Given the description of an element on the screen output the (x, y) to click on. 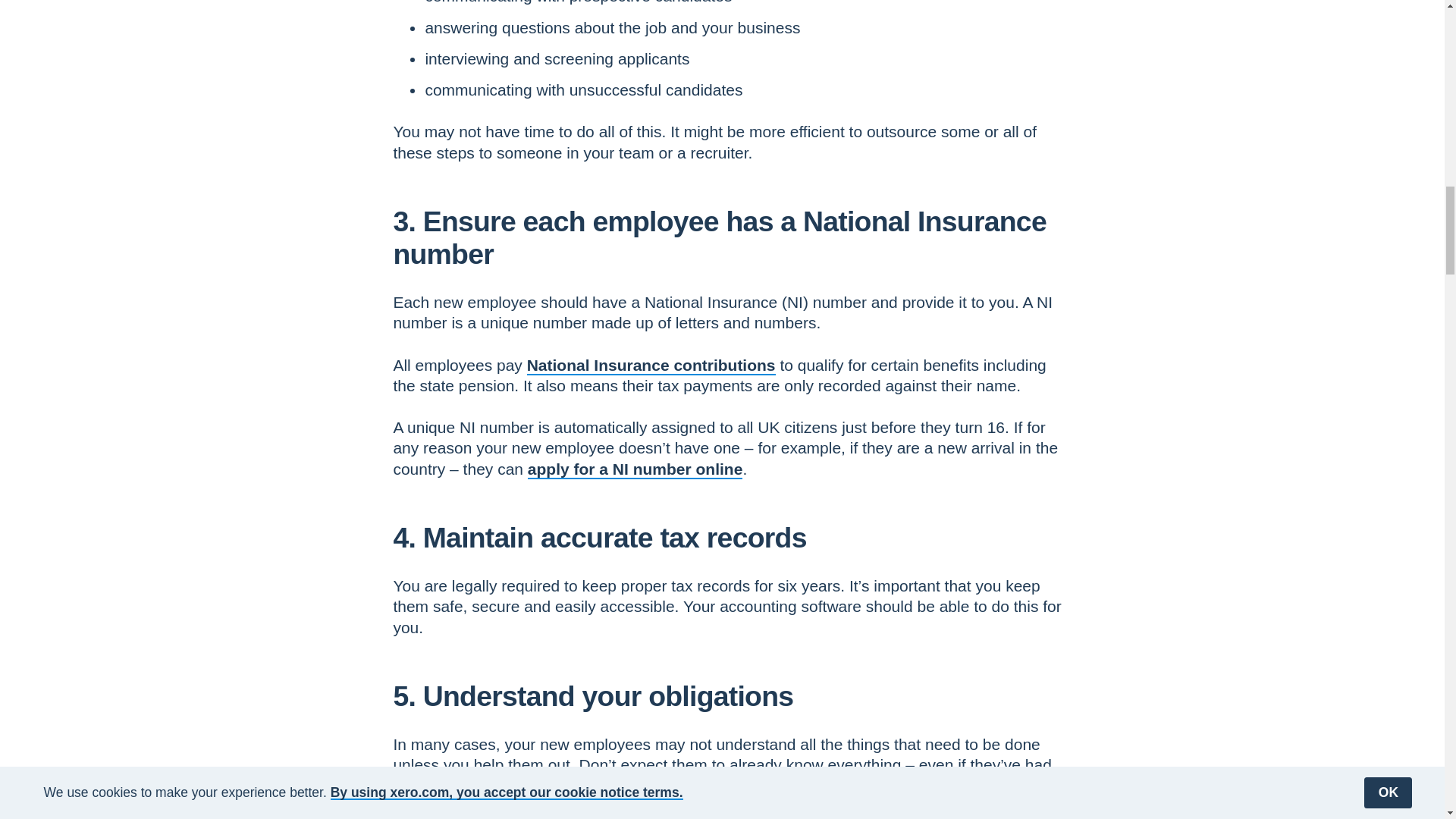
apply for a NI number online (634, 468)
National Insurance contributions (651, 364)
